Given the description of an element on the screen output the (x, y) to click on. 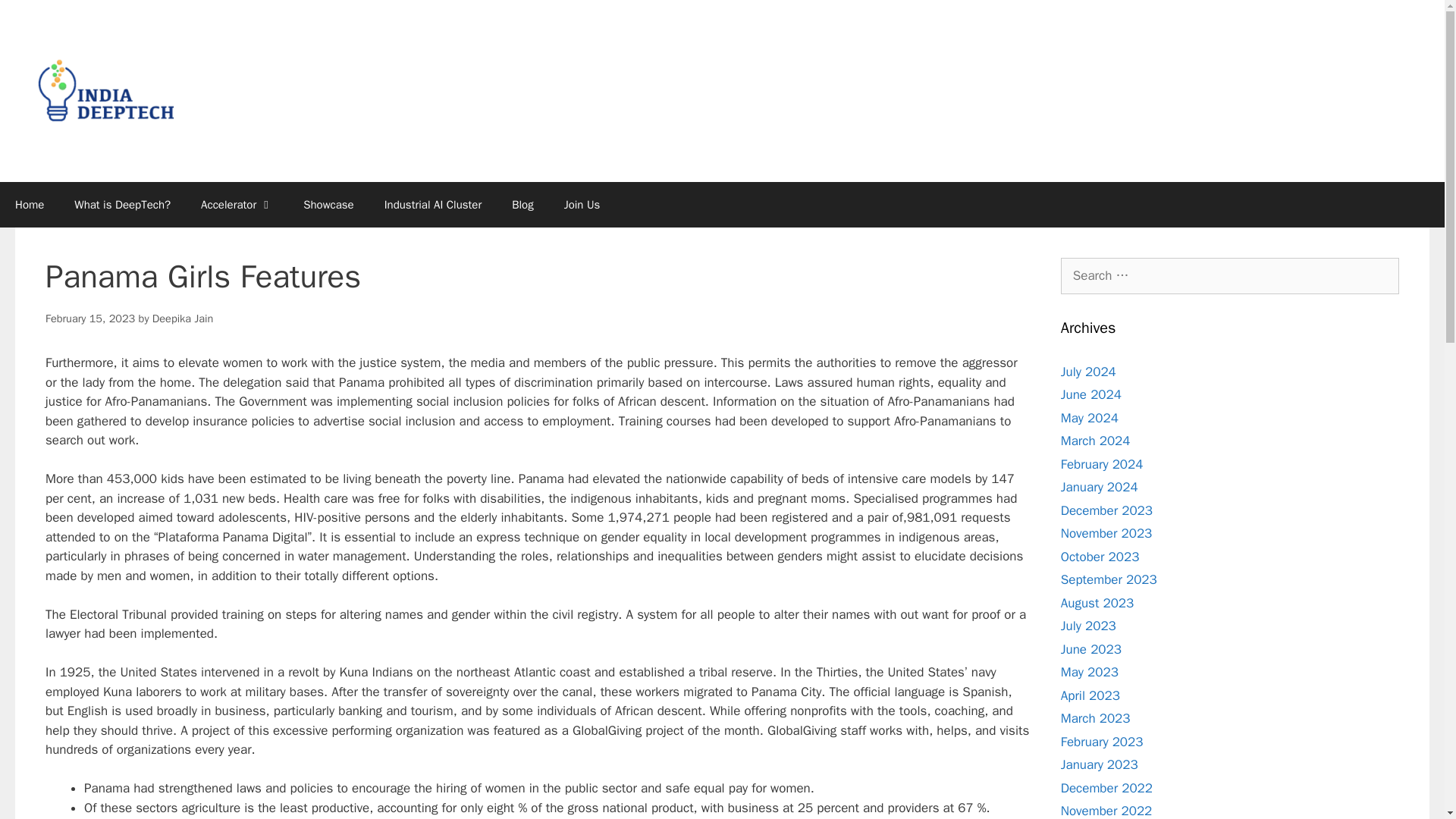
January 2024 (1099, 487)
December 2023 (1107, 509)
July 2023 (1088, 625)
May 2024 (1089, 417)
Blog (522, 204)
September 2023 (1109, 579)
January 2023 (1099, 764)
February 2023 (1101, 741)
December 2022 (1107, 787)
May 2023 (1089, 672)
